Given the description of an element on the screen output the (x, y) to click on. 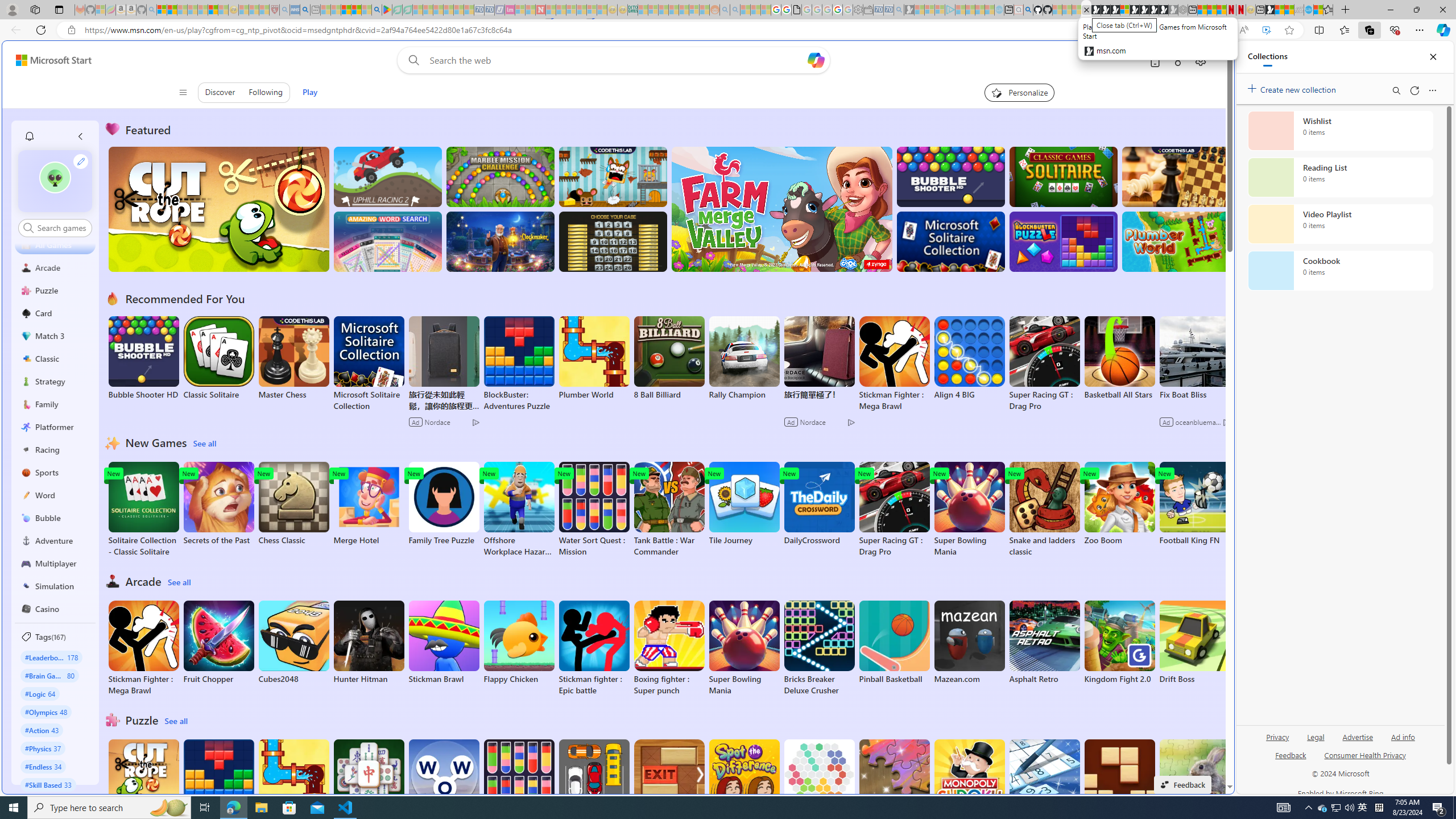
Video Playlist collection, 0 items (1339, 223)
""'s avatar (55, 177)
DailyCrossword (818, 503)
